Given the description of an element on the screen output the (x, y) to click on. 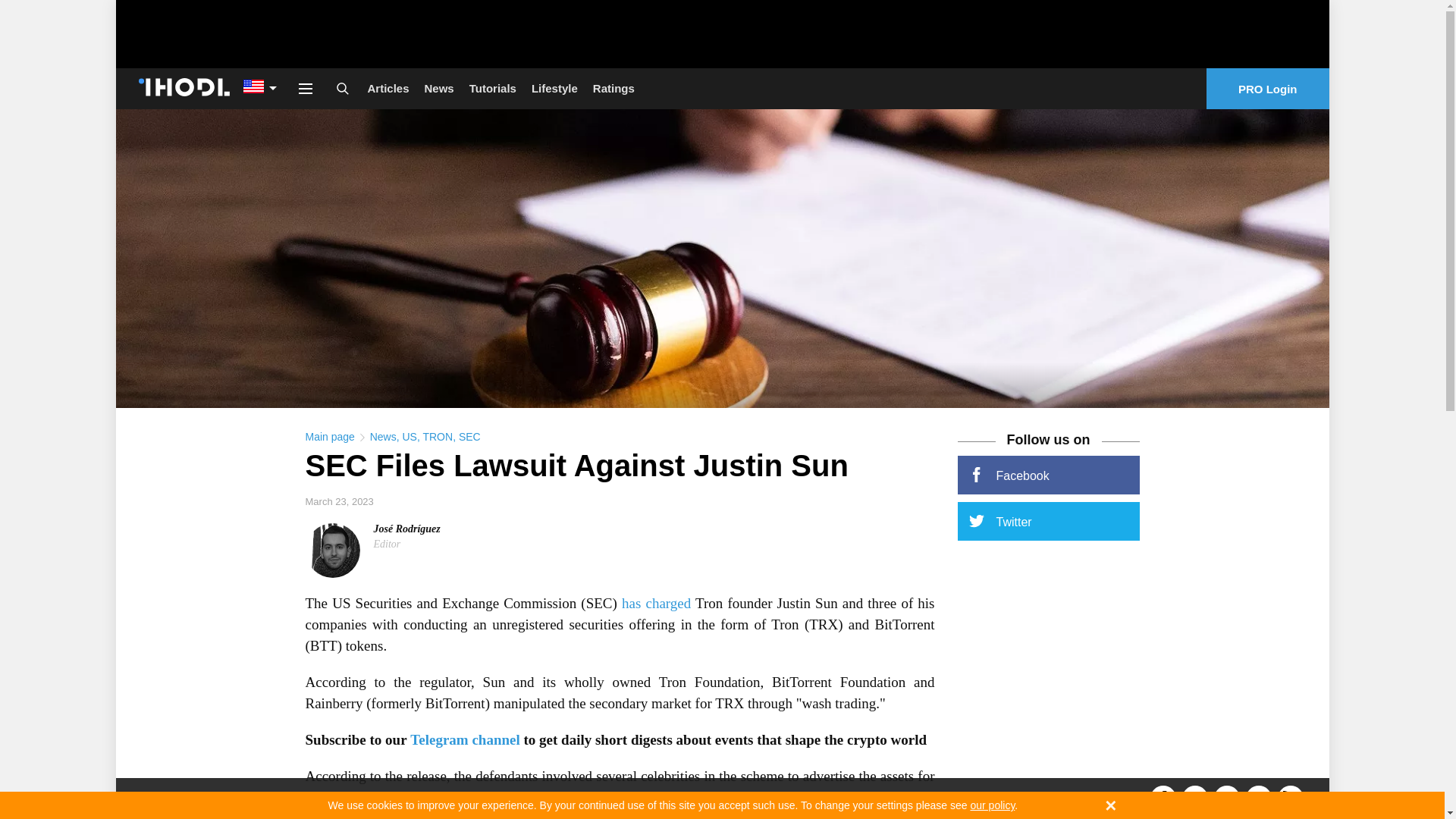
Articles (387, 87)
SEC (469, 436)
News (438, 87)
News (382, 436)
3rd party ad content (721, 33)
Lifestyle (554, 87)
Ratings (613, 87)
has charged (655, 602)
TRON (437, 436)
Main page (328, 436)
US (408, 436)
PRO Login (1268, 87)
Tutorials (492, 87)
Editor (386, 543)
our policy (991, 805)
